Given the description of an element on the screen output the (x, y) to click on. 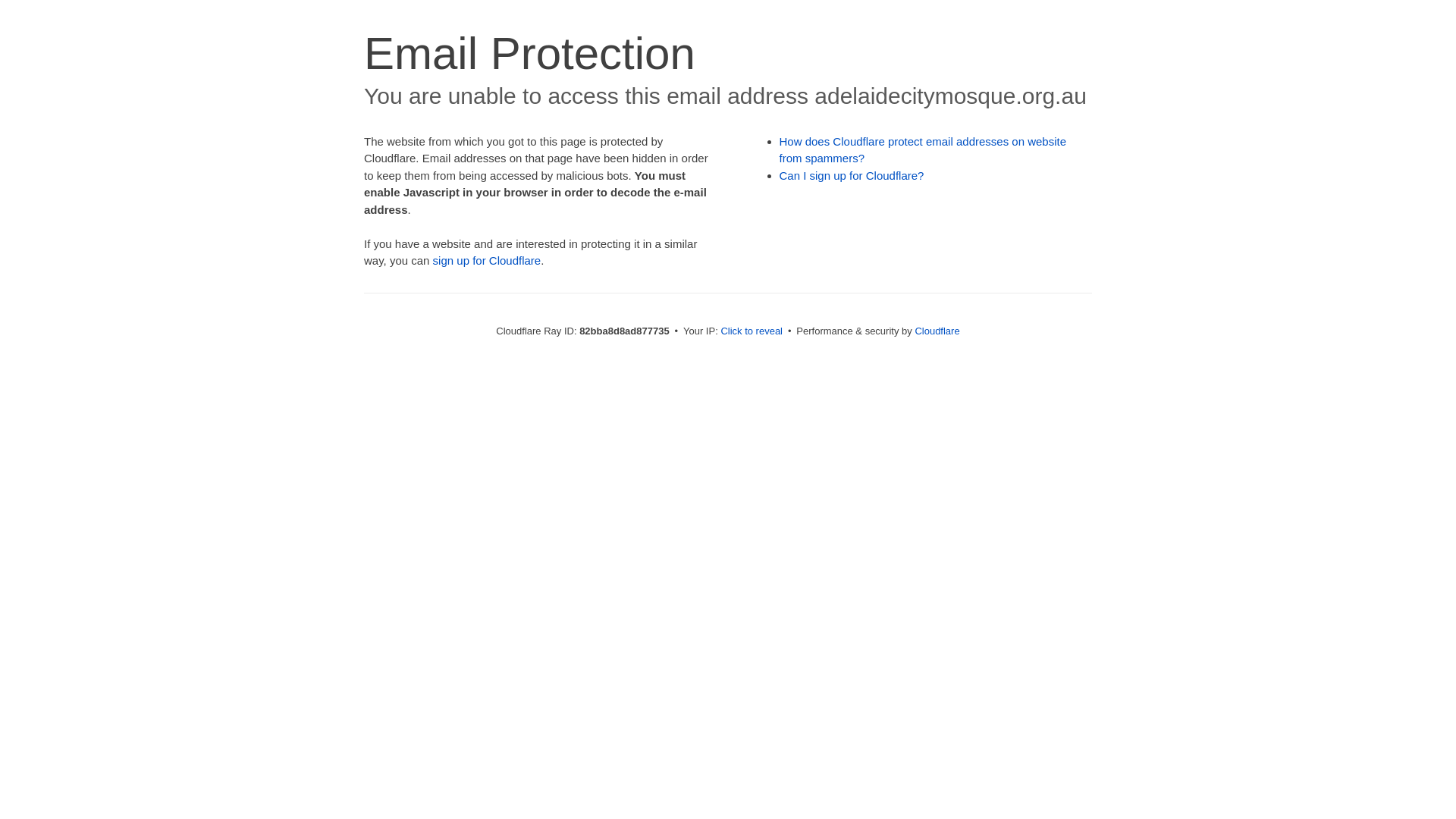
Cloudflare Element type: text (936, 330)
Click to reveal Element type: text (751, 330)
Can I sign up for Cloudflare? Element type: text (851, 175)
sign up for Cloudflare Element type: text (487, 260)
